Given the description of an element on the screen output the (x, y) to click on. 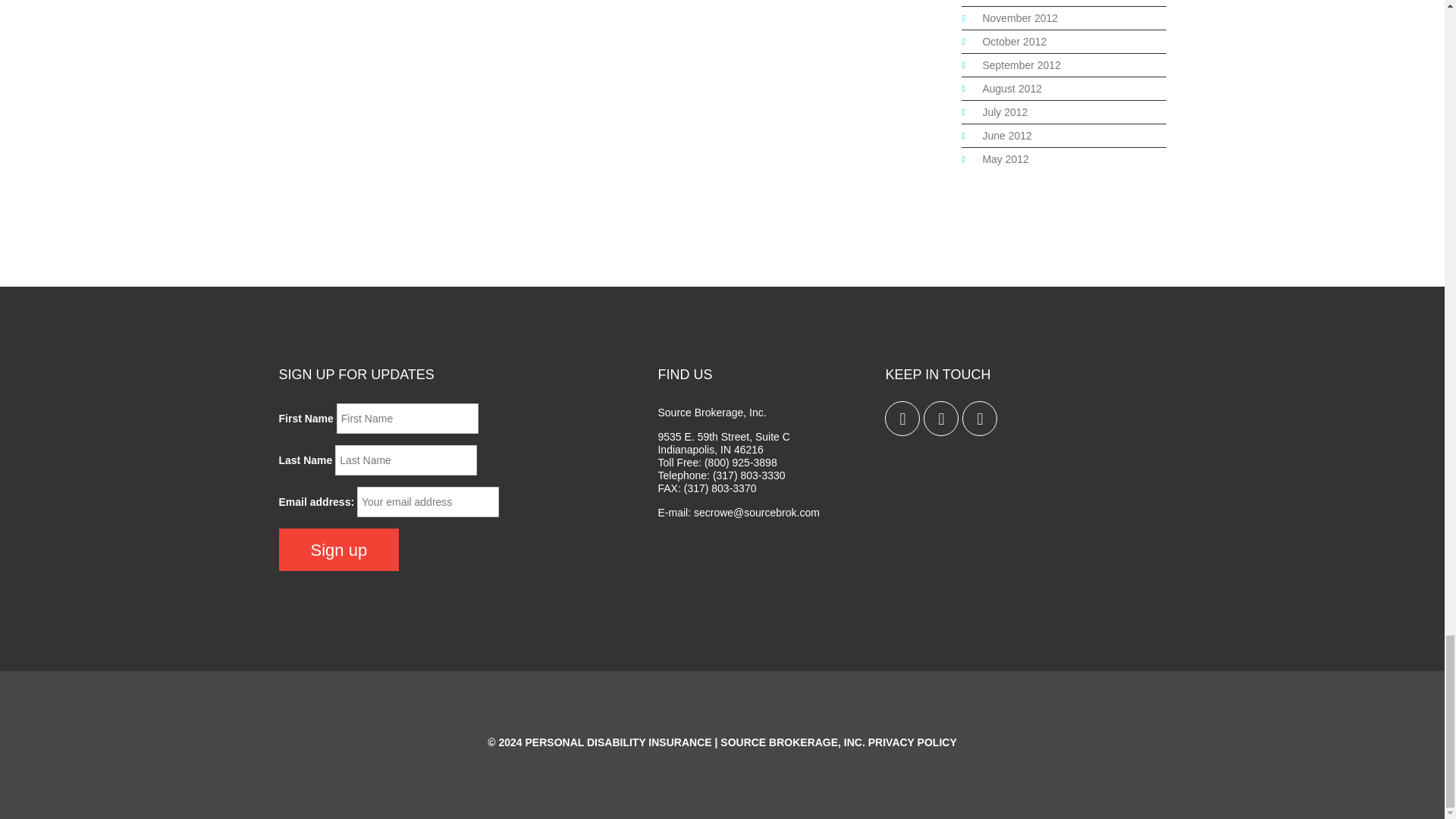
Linkedin (979, 418)
Twitter (902, 418)
Sign up (338, 549)
Facebook (940, 418)
